Given the description of an element on the screen output the (x, y) to click on. 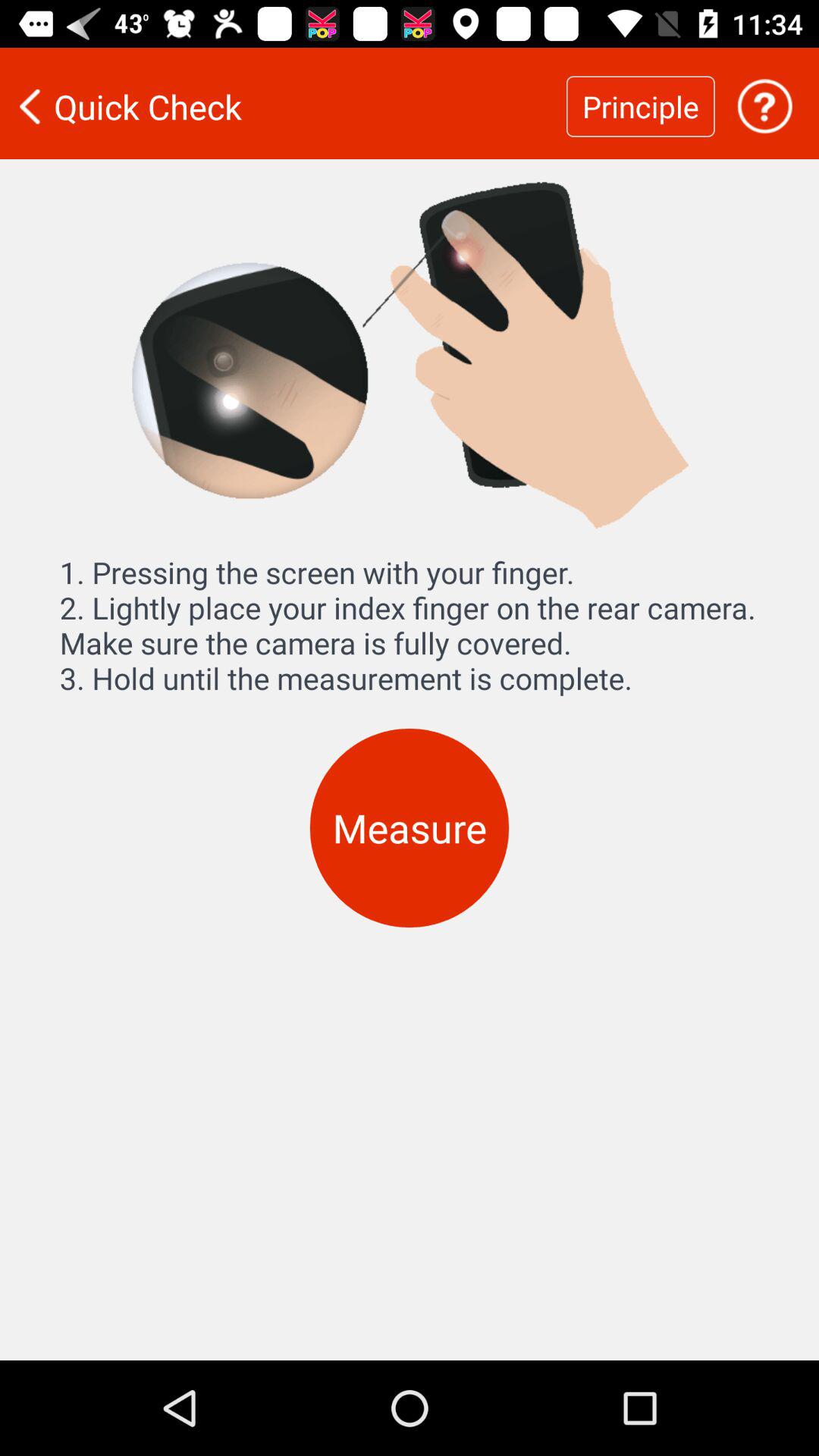
press on the rear camera (764, 106)
